Given the description of an element on the screen output the (x, y) to click on. 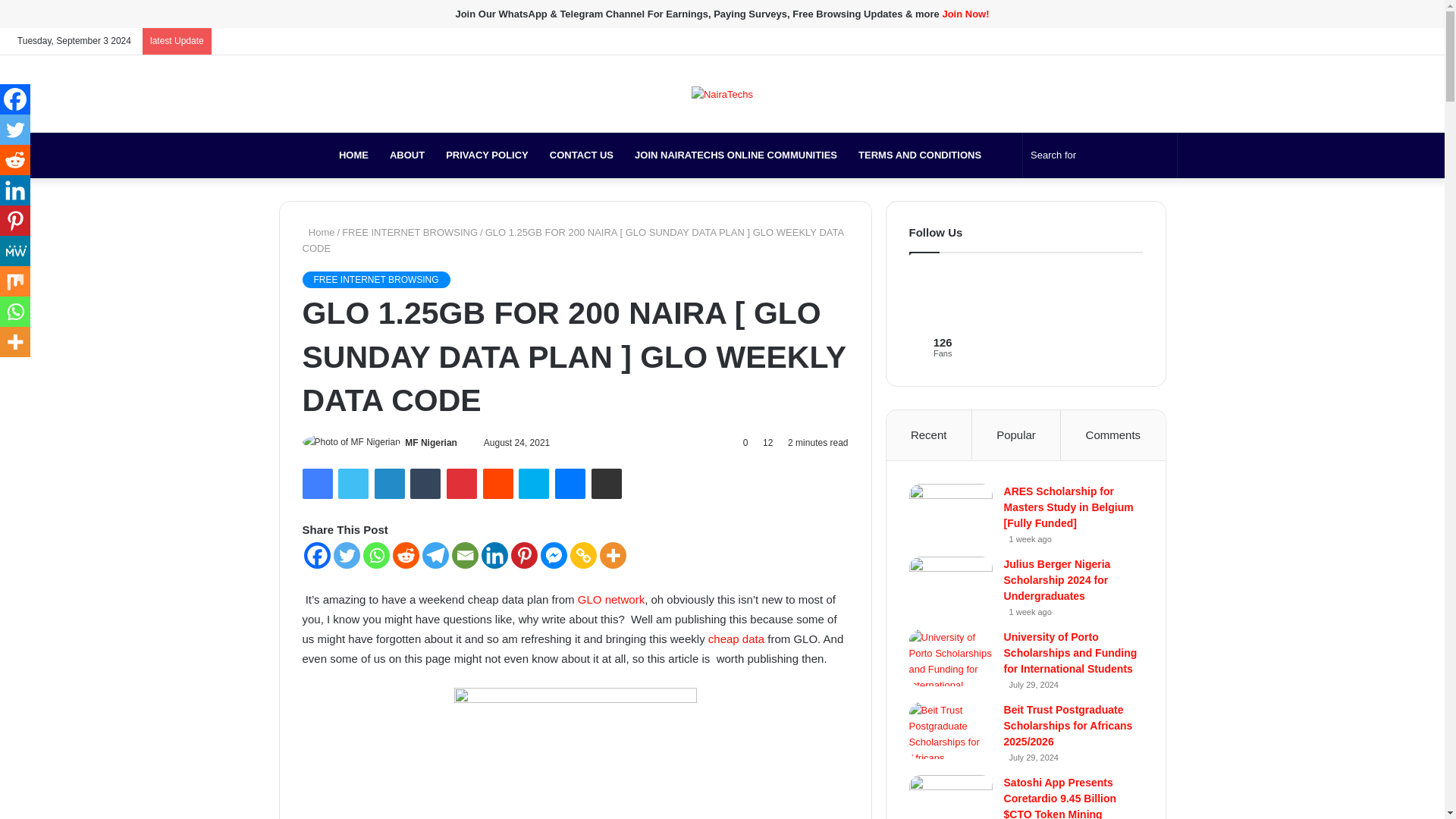
TERMS AND CONDITIONS (919, 155)
Search for (1099, 155)
Reddit (498, 483)
NairaTechs (297, 155)
NairaTechs (721, 93)
Home (317, 232)
Facebook (316, 483)
Twitter (352, 483)
Join Now! (965, 13)
FREE INTERNET BROWSING (409, 232)
